Given the description of an element on the screen output the (x, y) to click on. 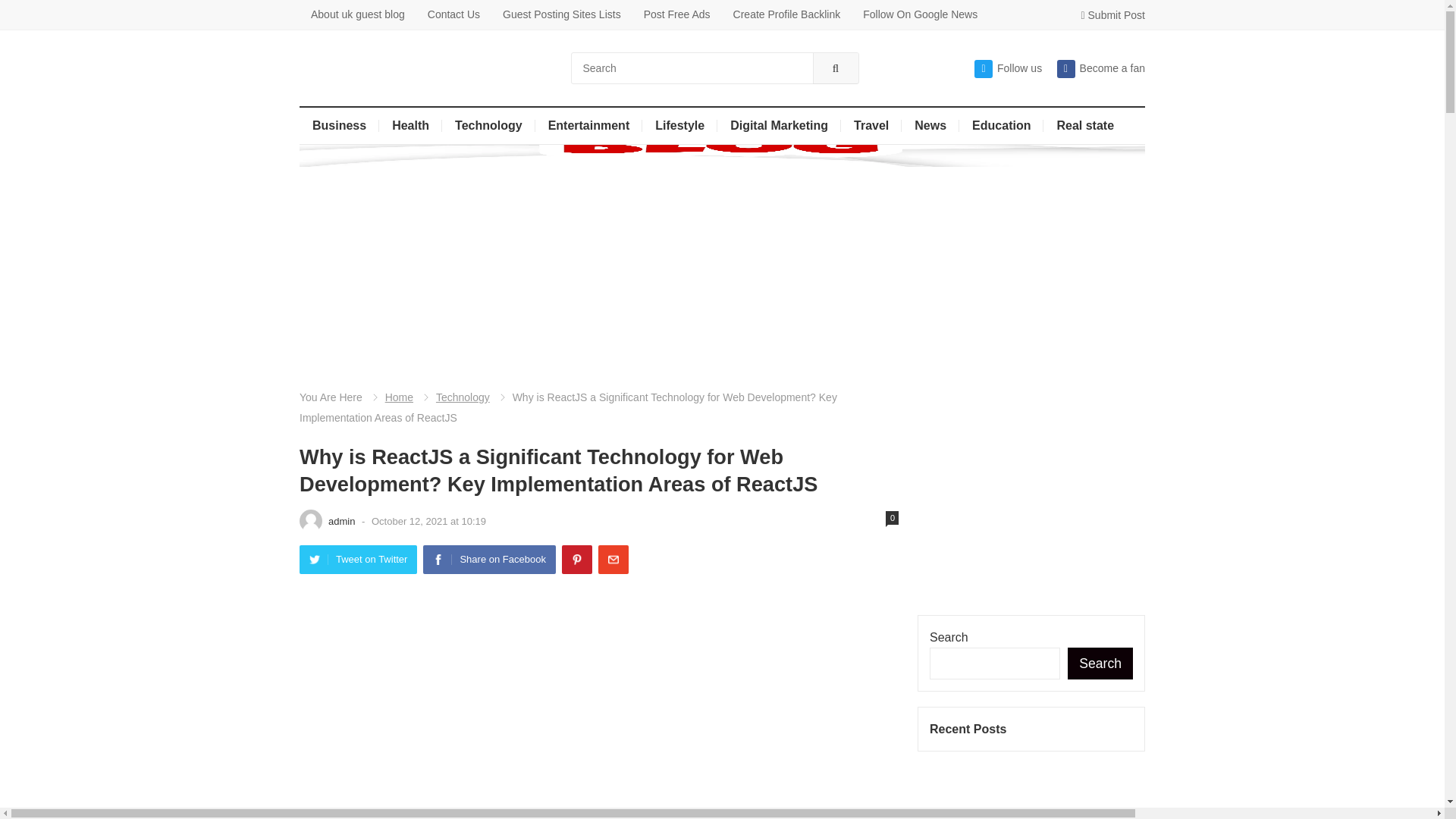
News (930, 125)
Advertisement (598, 698)
Follow On Google News (919, 14)
Guest Posting Sites Lists (561, 14)
Business (338, 125)
Become a fan (1100, 68)
Create Profile Backlink (786, 14)
Contact Us (454, 14)
Education (1001, 125)
Post Free Ads (676, 14)
